Given the description of an element on the screen output the (x, y) to click on. 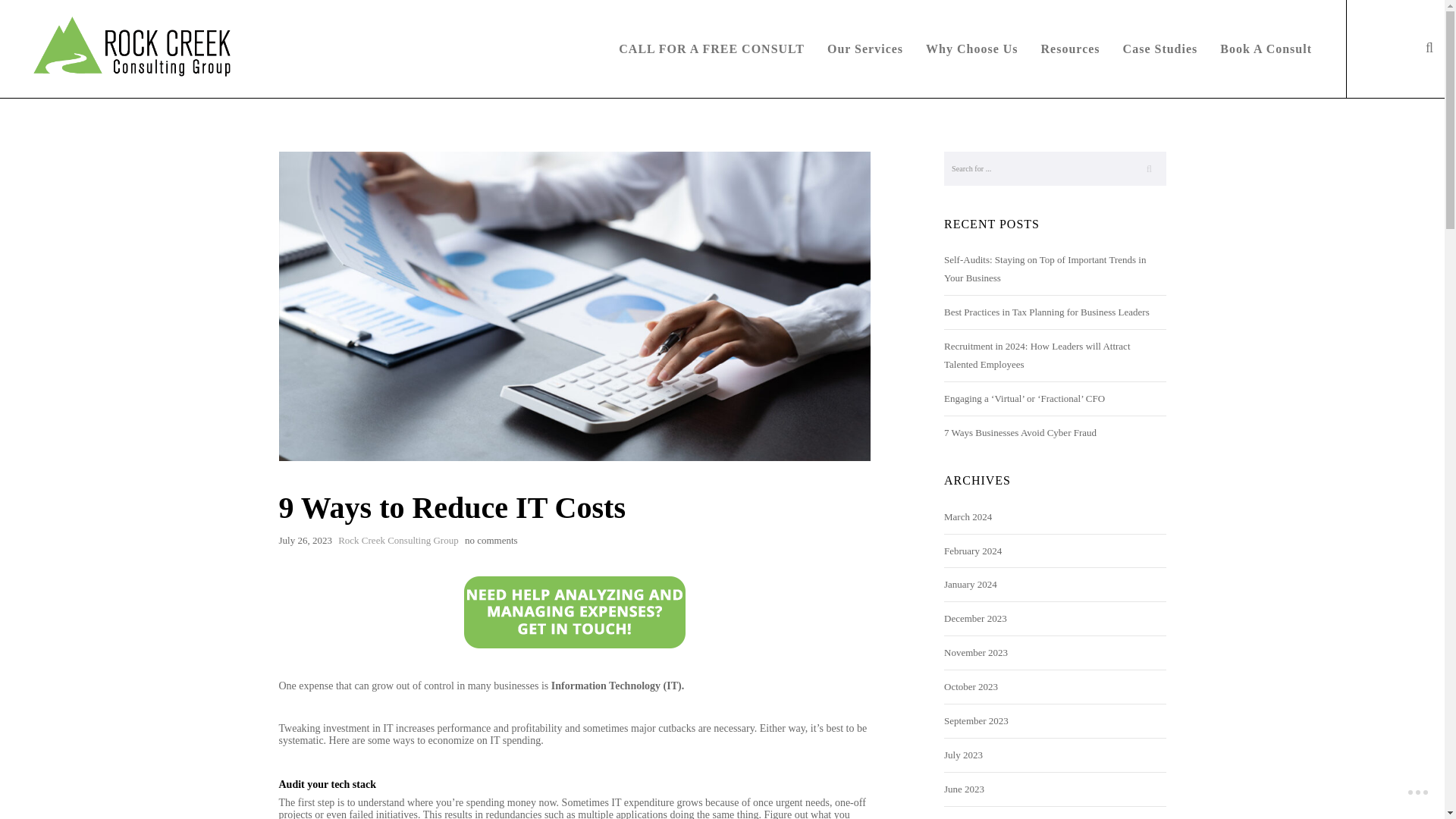
Rock Creek Consulting Group (397, 540)
CALL FOR A FREE CONSULT (711, 49)
Our Services (864, 49)
Book A Consult (1265, 49)
Rock Creek Consulting Group (121, 49)
Case Studies (1160, 49)
Why Choose Us (971, 49)
